Given the description of an element on the screen output the (x, y) to click on. 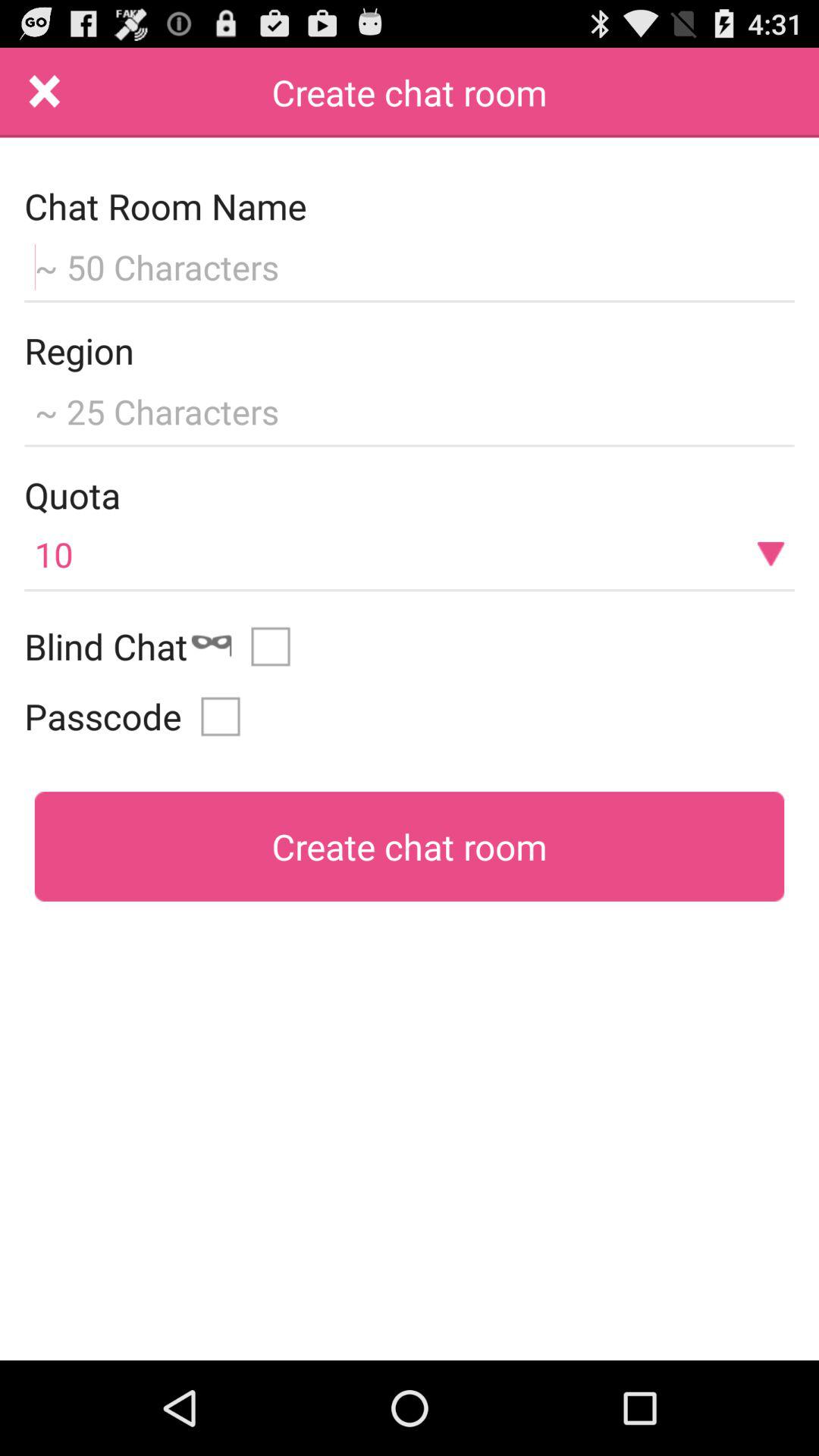
select to activate (276, 646)
